Given the description of an element on the screen output the (x, y) to click on. 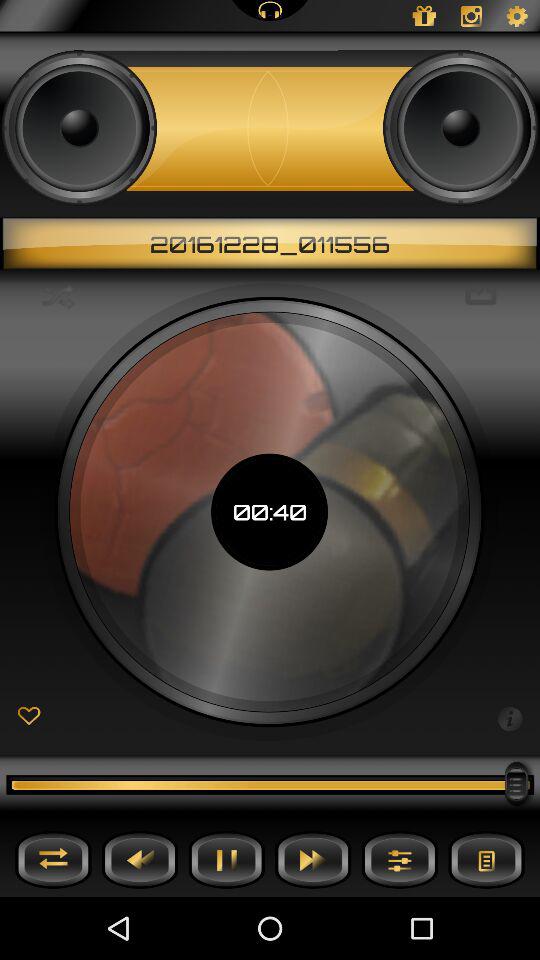
tap icon at the top left corner (58, 296)
